Given the description of an element on the screen output the (x, y) to click on. 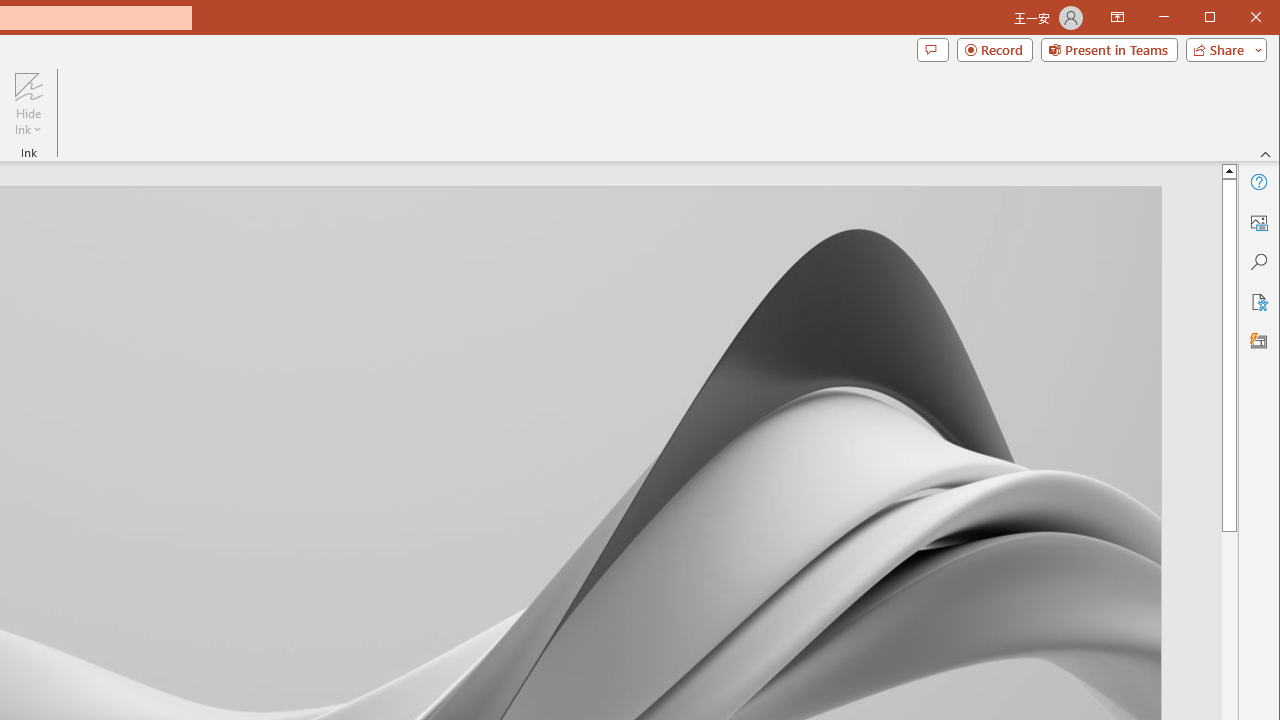
Maximize (1238, 18)
